Given the description of an element on the screen output the (x, y) to click on. 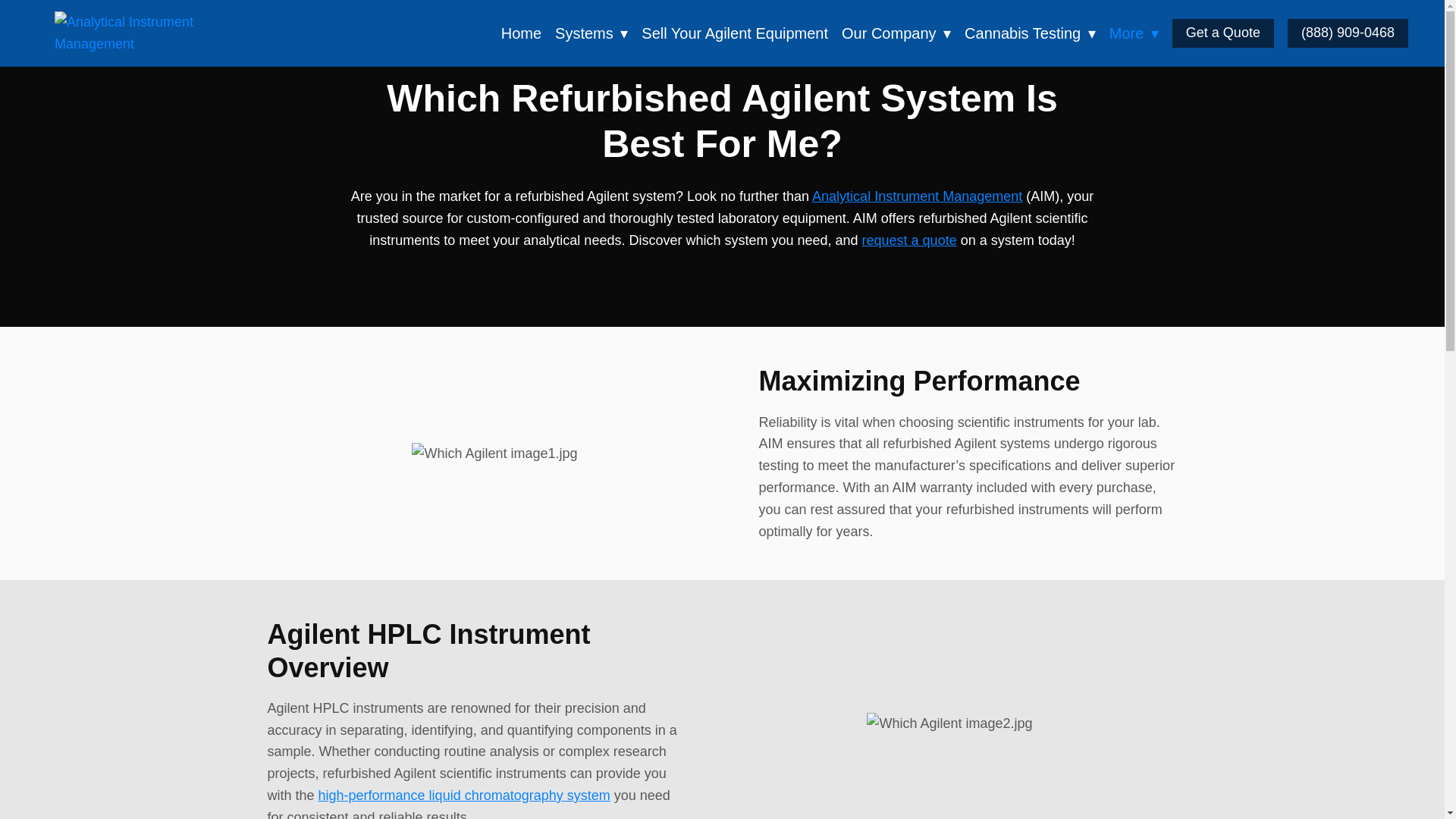
request a quote (908, 240)
Get a Quote (1223, 32)
Analytical Instrument Management (917, 196)
high-performance liquid chromatography system (464, 795)
Analytical Instrument Management (145, 33)
Home (520, 33)
Sell Your Agilent Equipment (735, 33)
